Given the description of an element on the screen output the (x, y) to click on. 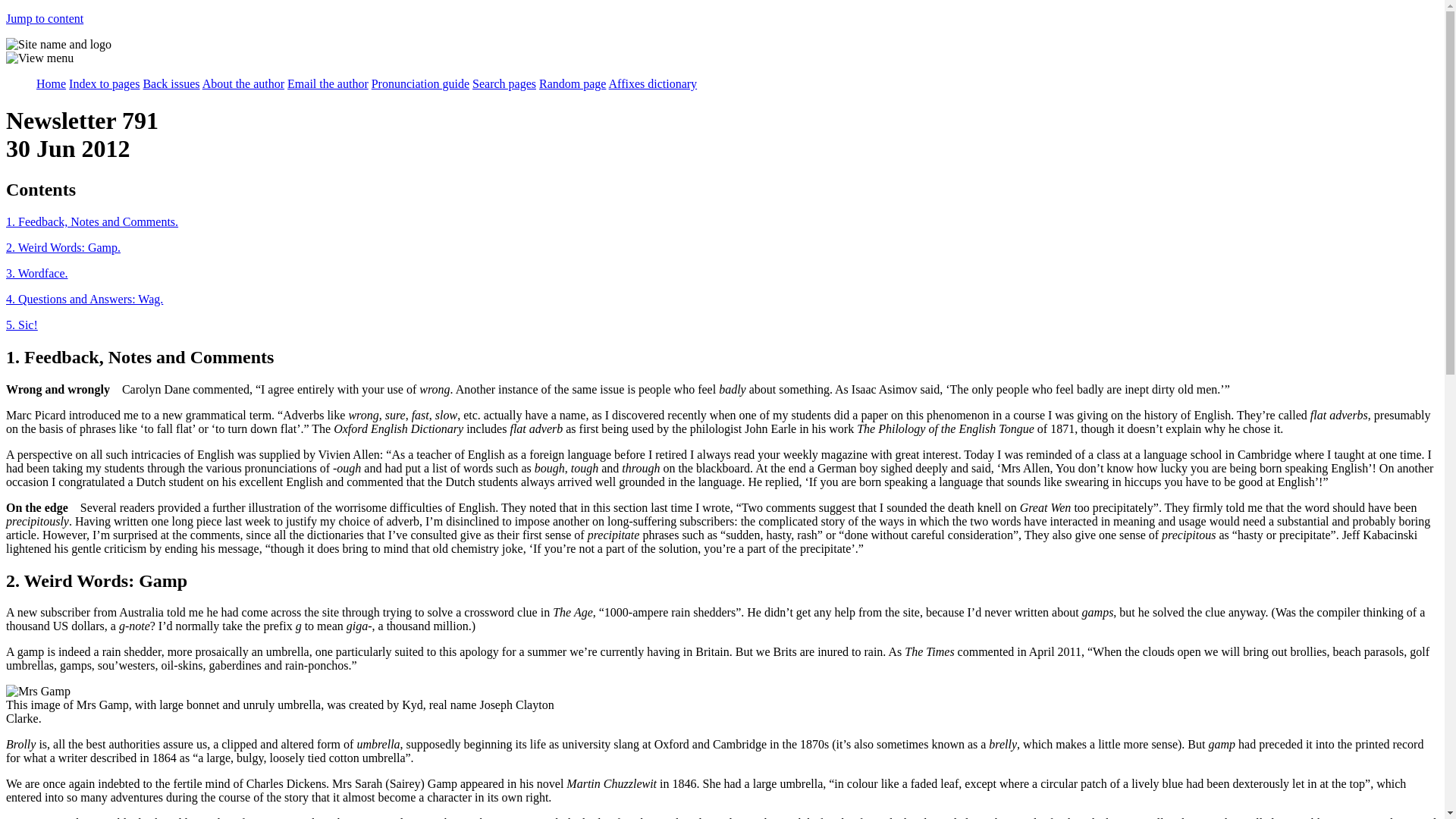
Index to pages (103, 83)
Back issues (170, 83)
1. Feedback, Notes and Comments. (91, 221)
About the author (242, 83)
Random page (571, 83)
Home (50, 83)
3. Wordface. (36, 273)
4. Questions and Answers: Wag. (84, 298)
Email the author (327, 83)
Pronunciation guide (419, 83)
5. Sic! (21, 324)
Search pages (503, 83)
2. Weird Words: Gamp. (62, 246)
Affixes dictionary (652, 83)
Jump to content (43, 18)
